Given the description of an element on the screen output the (x, y) to click on. 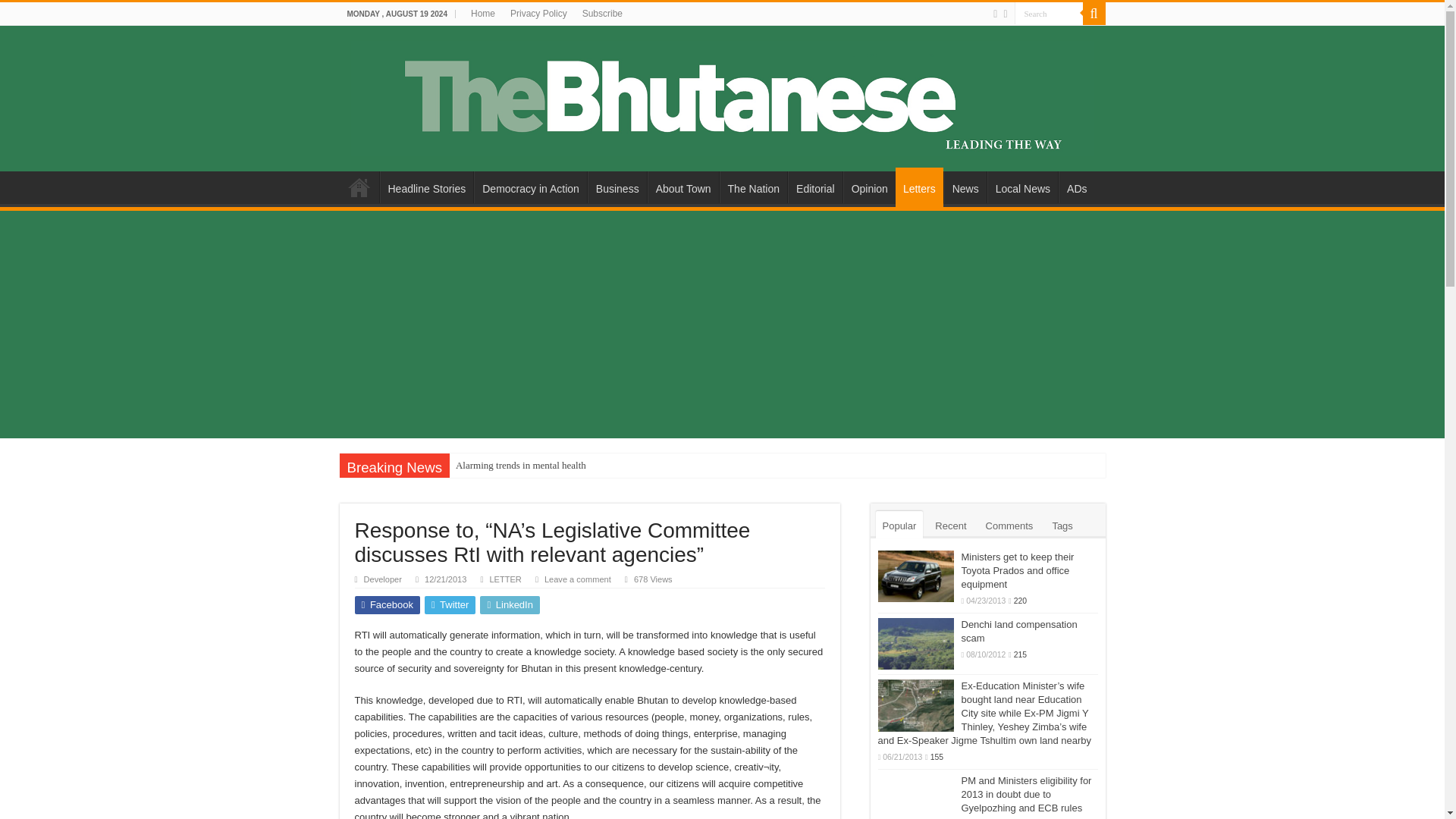
Business (617, 187)
Letters (919, 187)
Alarming trends in mental health (520, 465)
Democracy in Action (530, 187)
Home (482, 13)
HOME (358, 187)
ADs (1076, 187)
Alarming trends in mental health (520, 465)
About Town (683, 187)
The Bhutanese (721, 94)
